Given the description of an element on the screen output the (x, y) to click on. 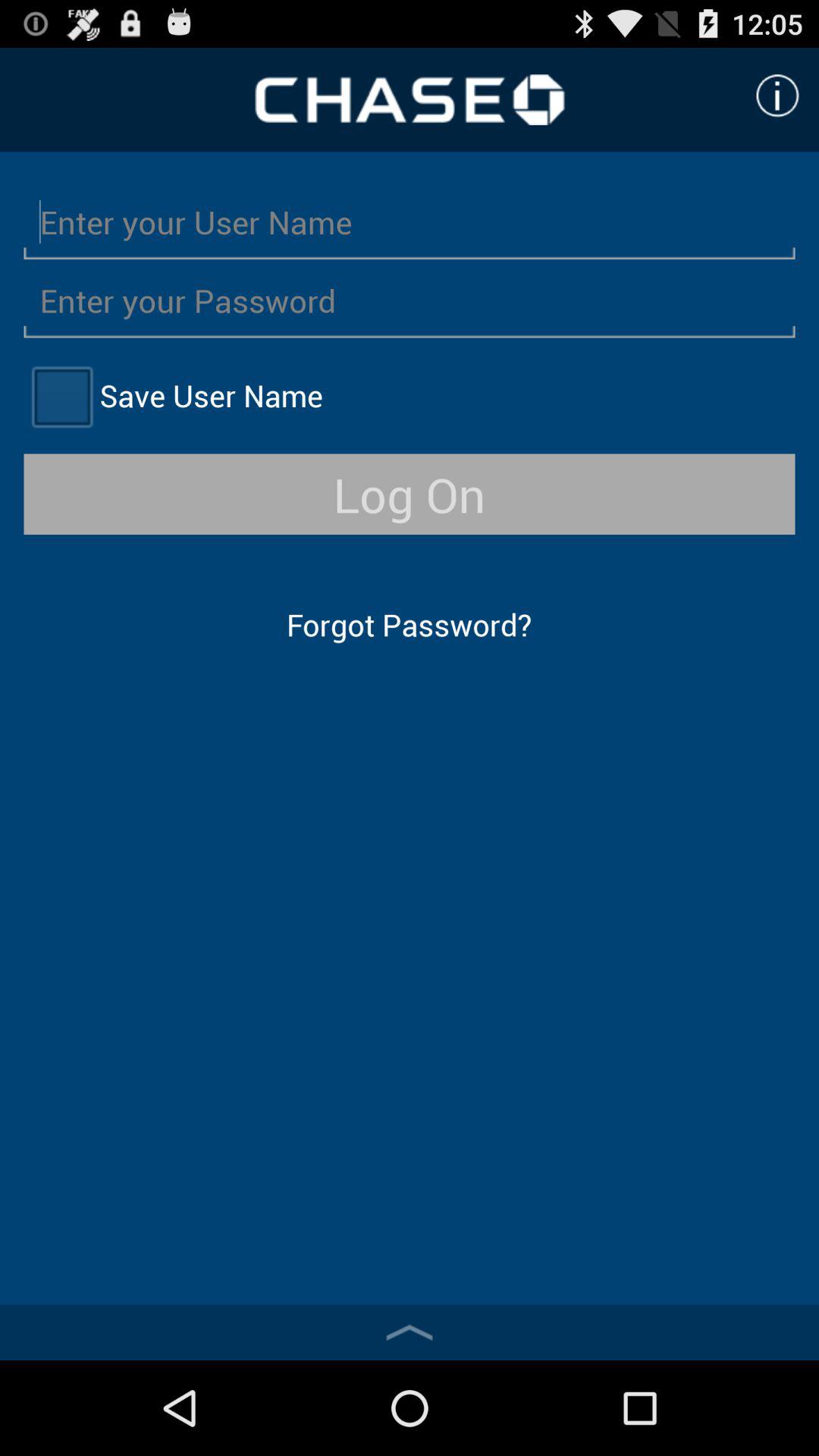
jump until forgot password? icon (408, 624)
